Given the description of an element on the screen output the (x, y) to click on. 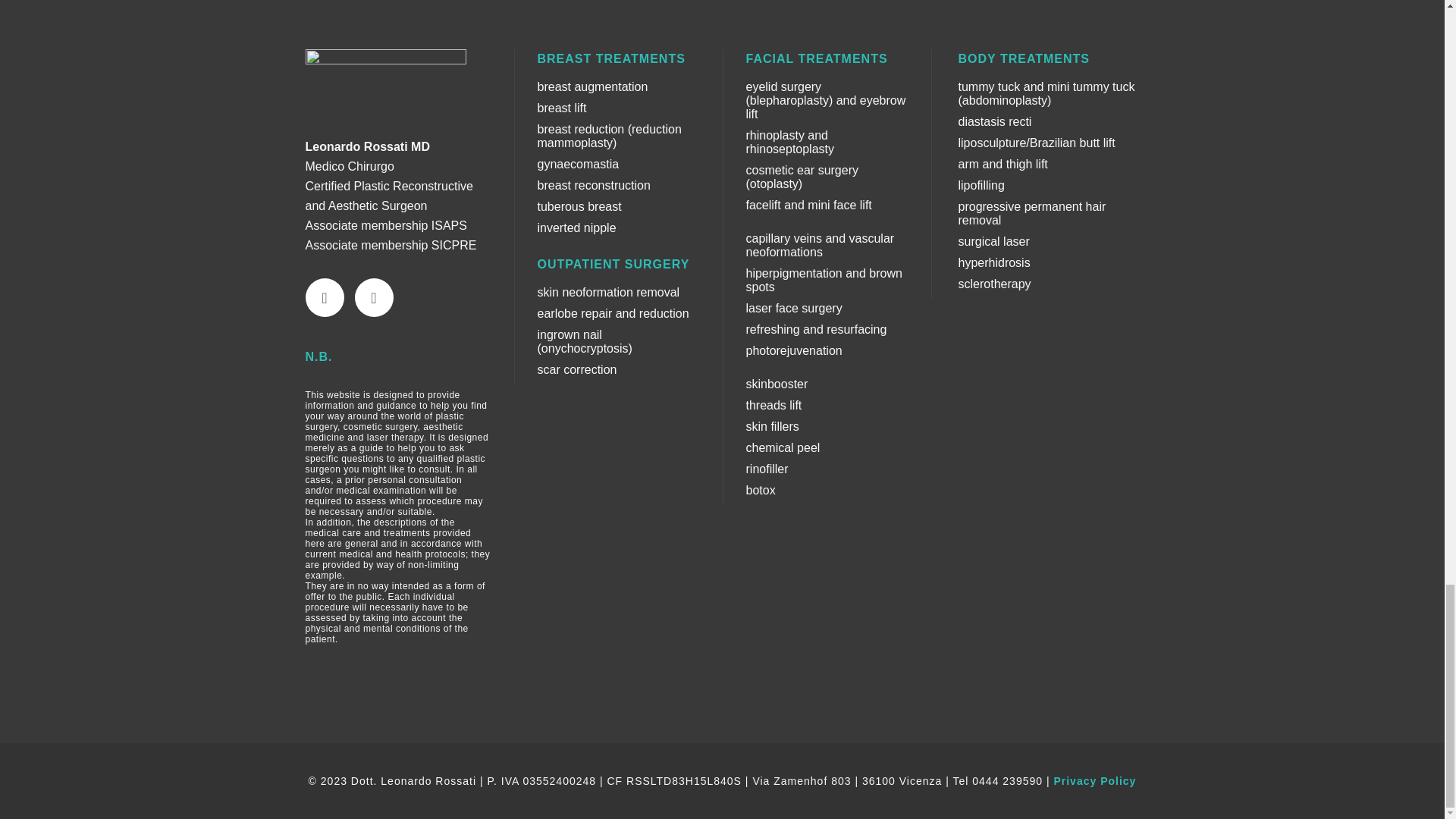
Privacy Policy (1093, 780)
